Given the description of an element on the screen output the (x, y) to click on. 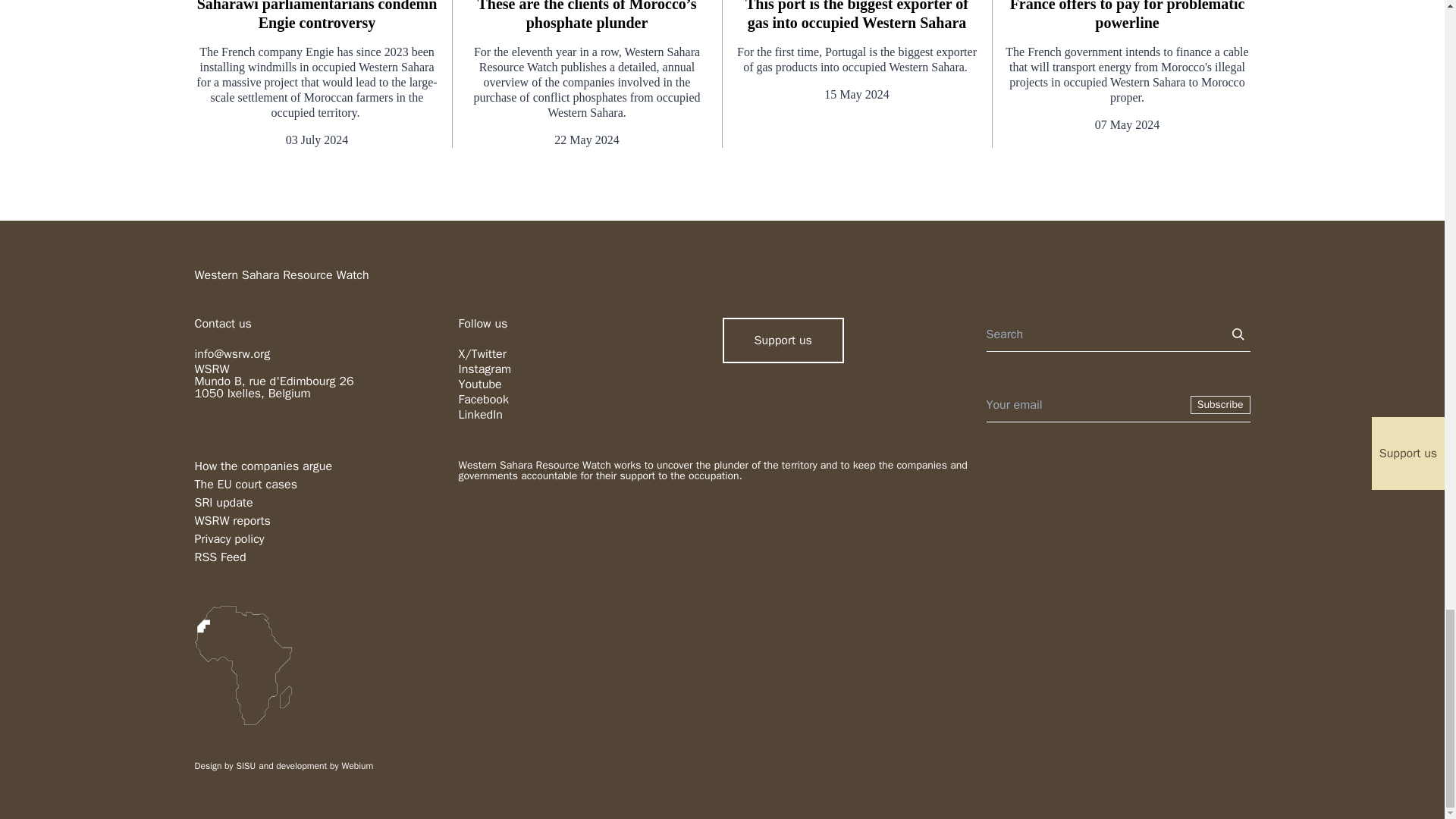
Youtube (479, 384)
LinkedIn (480, 414)
Privacy policy (228, 539)
France offers to pay for problematic powerline (1126, 16)
Saharawi parliamentarians condemn Engie controversy (316, 16)
How the companies argue (262, 466)
Instagram (484, 368)
SRI update (222, 502)
Facebook (483, 399)
Support us (782, 340)
